Given the description of an element on the screen output the (x, y) to click on. 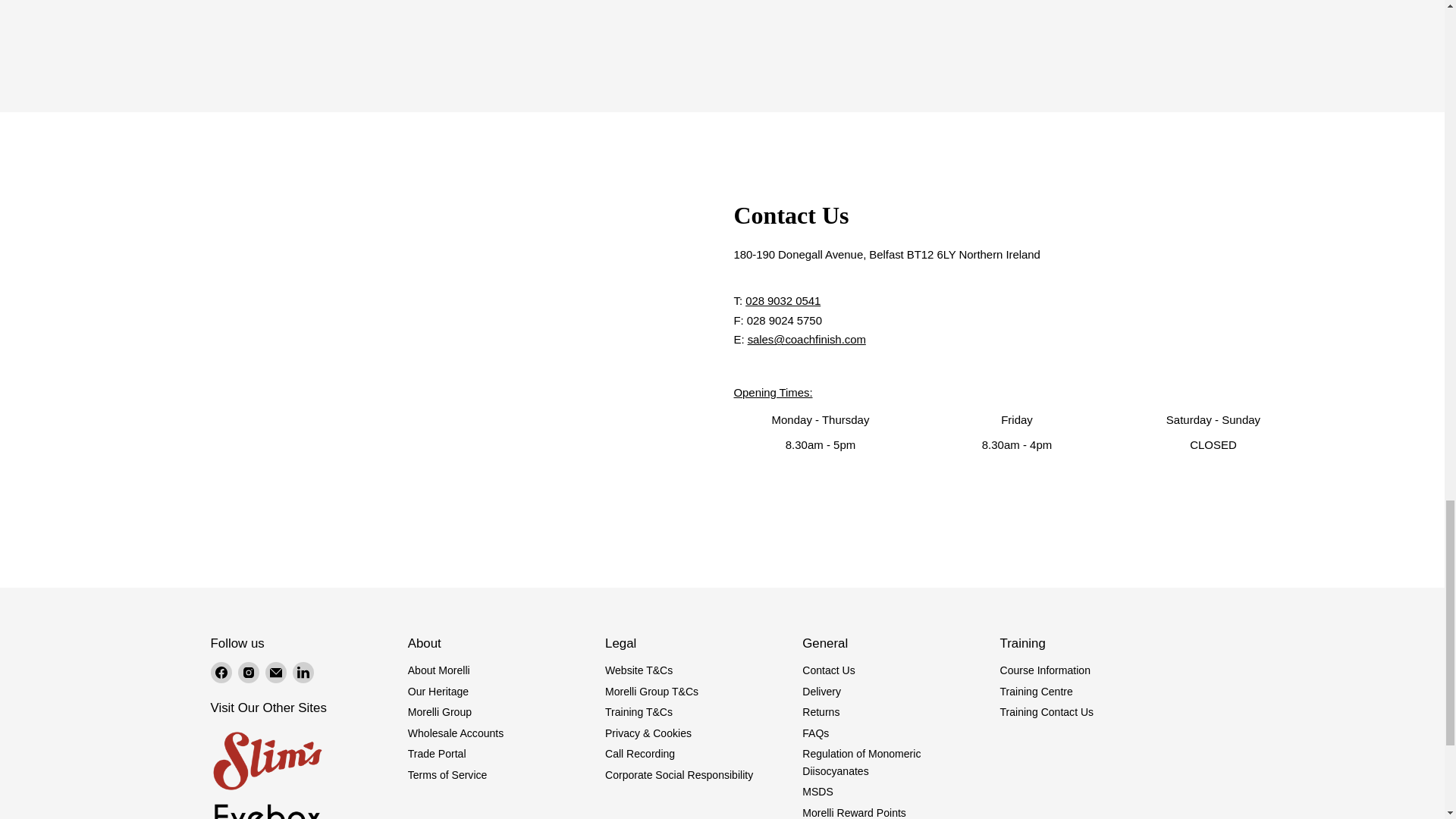
Instagram (248, 672)
Facebook (221, 672)
Email (275, 672)
LinkedIn (303, 672)
